Given the description of an element on the screen output the (x, y) to click on. 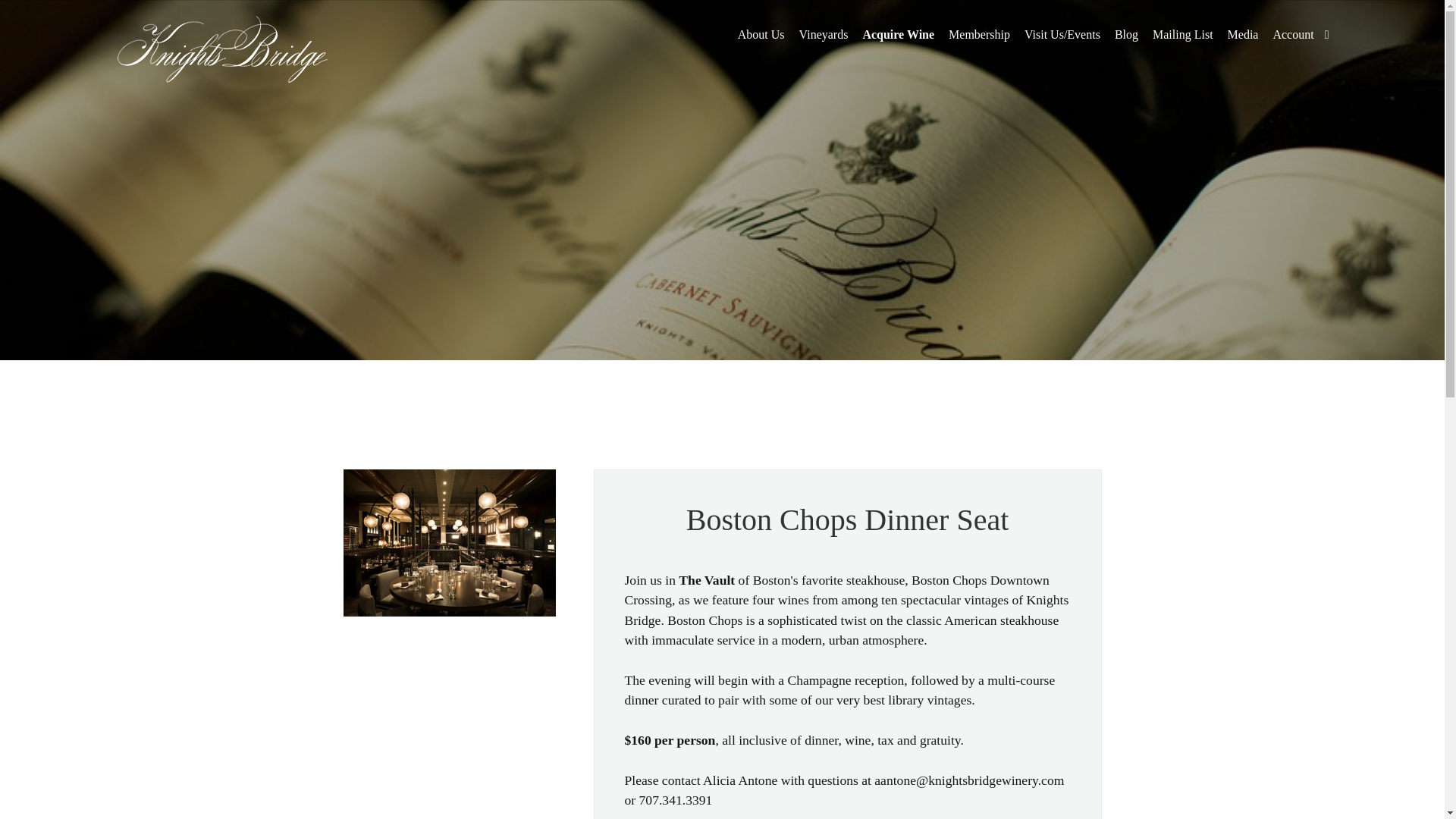
Account (1292, 34)
Acquire Wine (897, 34)
About Us (761, 34)
Blog (1126, 34)
Mailing List (1182, 34)
Media (1243, 34)
Knights Bridge Winery (221, 49)
Membership (979, 34)
Vineyards (823, 34)
